Given the description of an element on the screen output the (x, y) to click on. 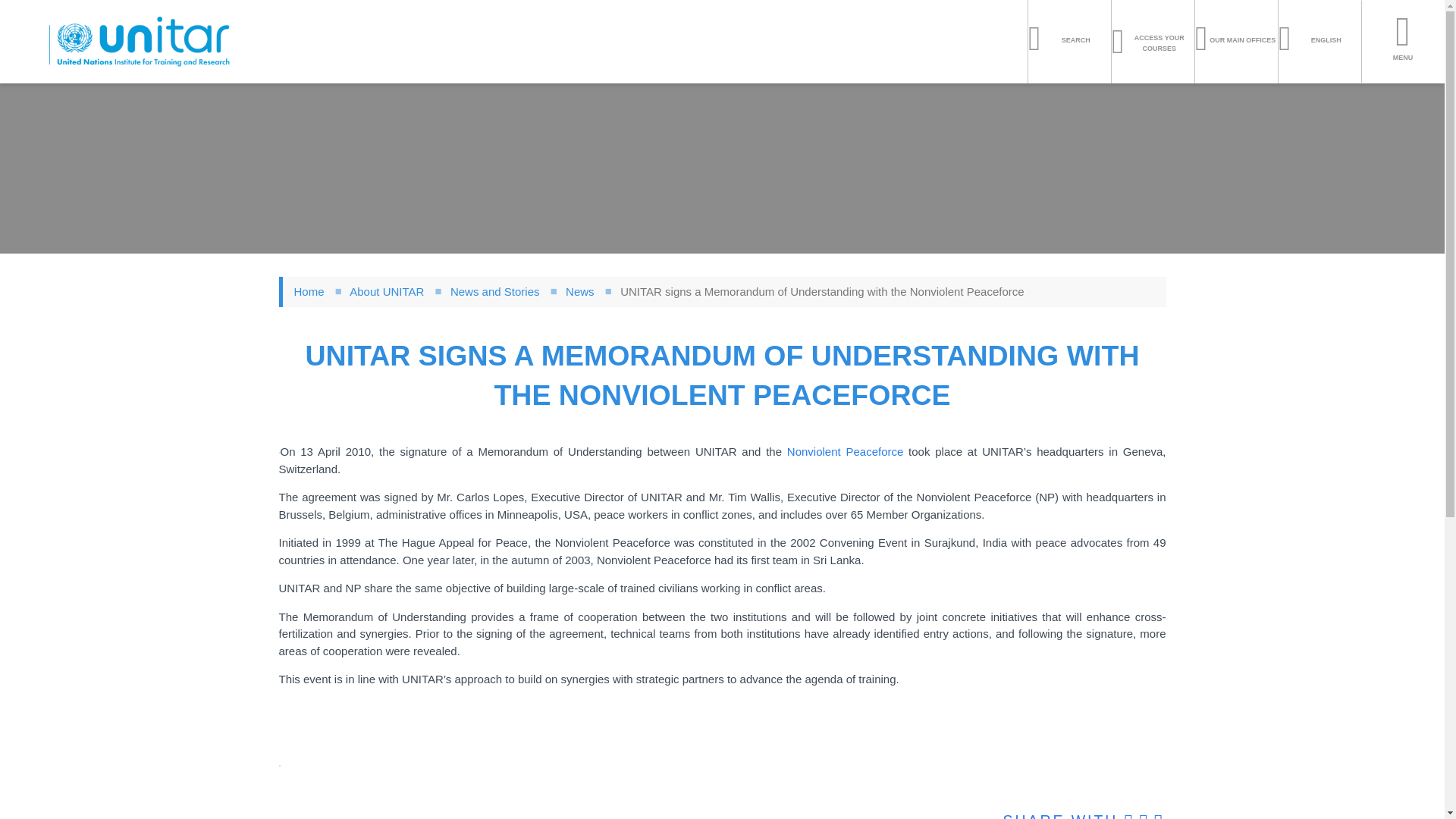
Home (139, 41)
